Given the description of an element on the screen output the (x, y) to click on. 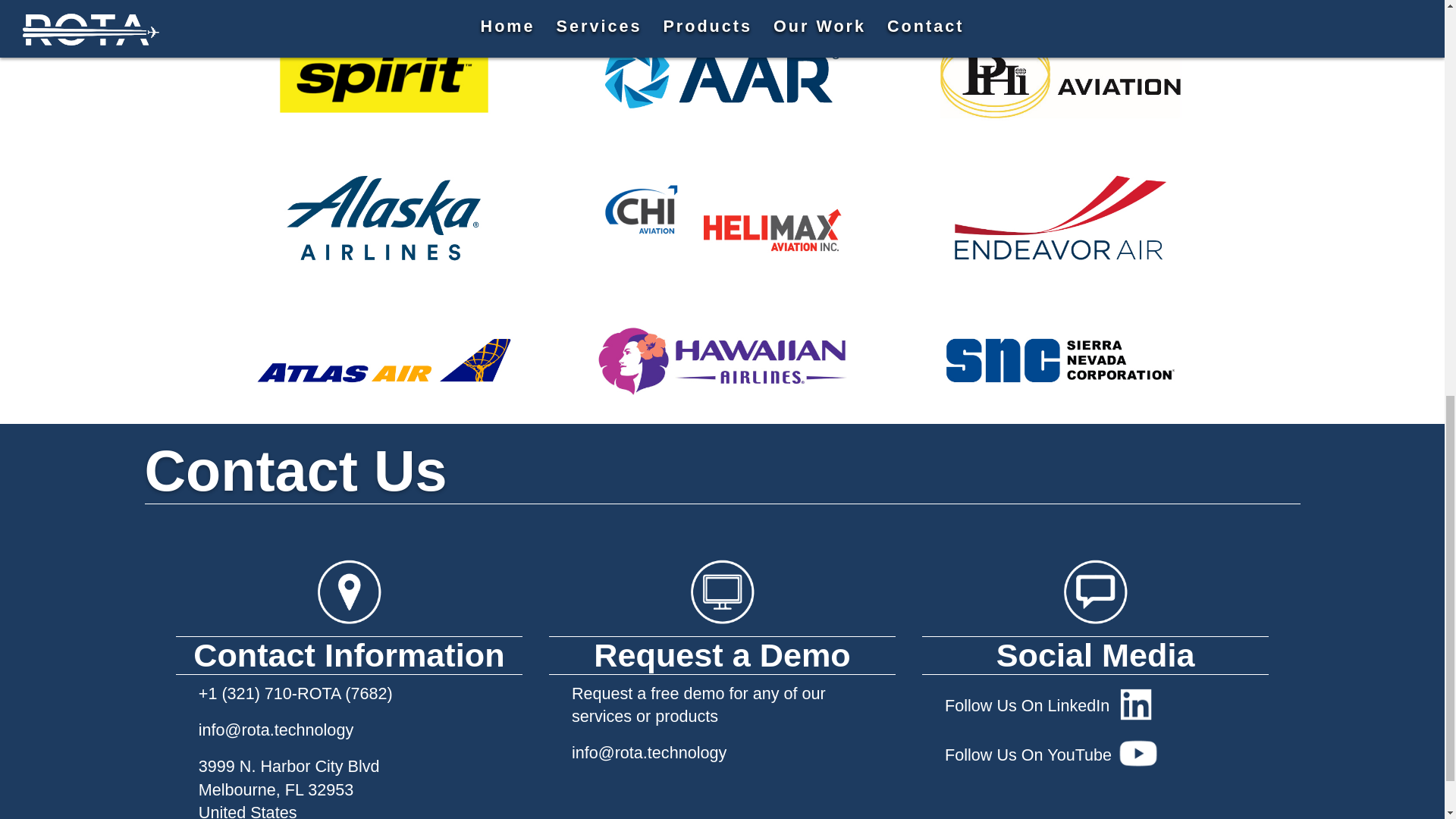
Follow Us On LinkedIn (1095, 706)
